Given the description of an element on the screen output the (x, y) to click on. 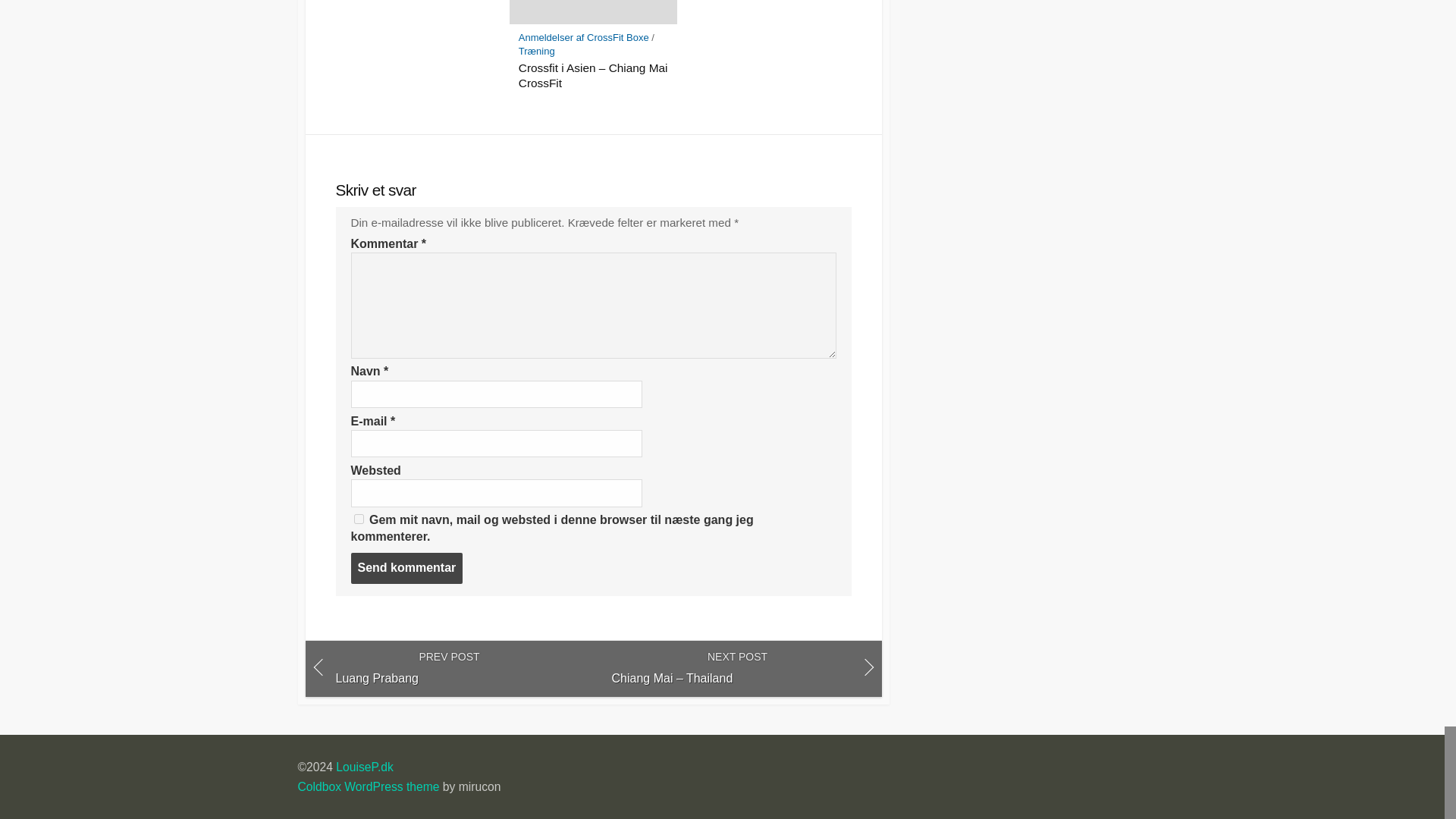
yes (357, 519)
Send kommentar (406, 567)
Anmeldelser af CrossFit Boxe (583, 37)
